Given the description of an element on the screen output the (x, y) to click on. 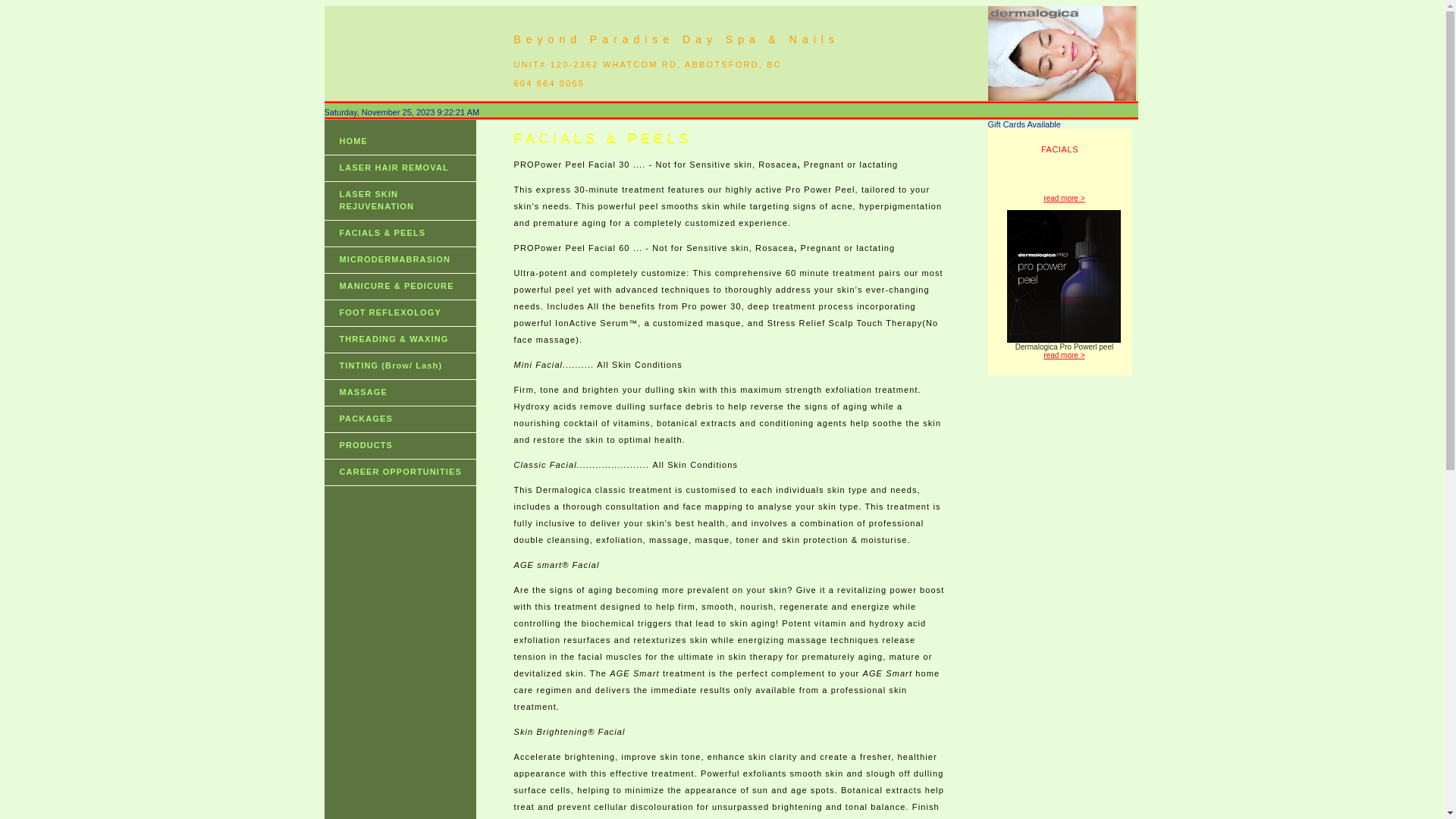
THREADING & WAXING Element type: text (400, 339)
MICRODERMABRASION Element type: text (400, 260)
PRODUCTS Element type: text (400, 445)
TINTING (Brow/ Lash) Element type: text (400, 366)
CAREER OPPORTUNITIES Element type: text (400, 472)
HOME Element type: text (400, 141)
read more > Element type: text (1063, 198)
MASSAGE Element type: text (400, 392)
LASER SKIN REJUVENATION Element type: text (400, 200)
FACIALS & PEELS Element type: text (400, 233)
FOOT REFLEXOLOGY Element type: text (400, 313)
LASER HAIR REMOVAL Element type: text (400, 168)
MANICURE & PEDICURE Element type: text (400, 286)
PACKAGES Element type: text (400, 419)
read more > Element type: text (1063, 355)
